Given the description of an element on the screen output the (x, y) to click on. 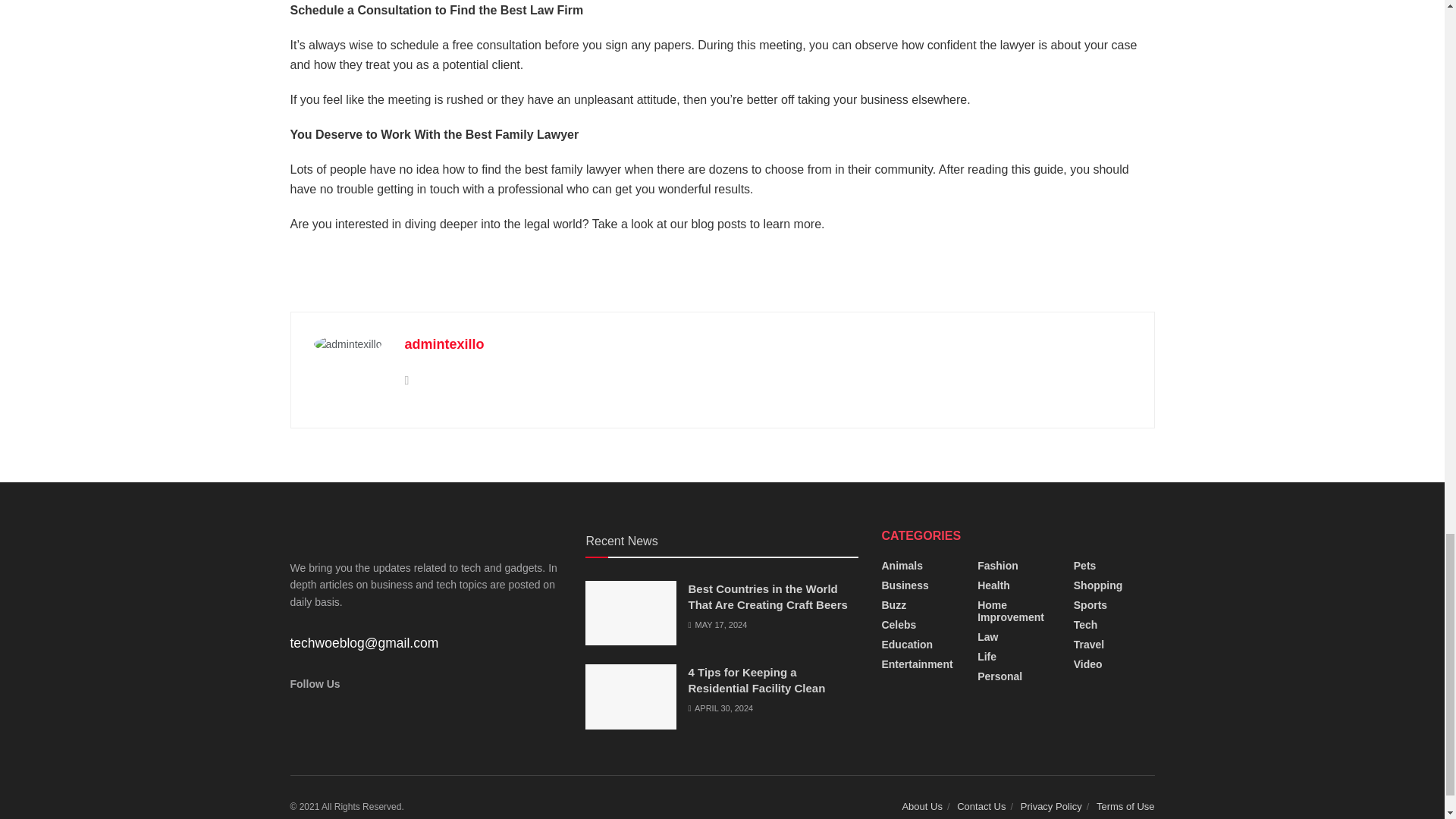
admintexillo (444, 344)
